Given the description of an element on the screen output the (x, y) to click on. 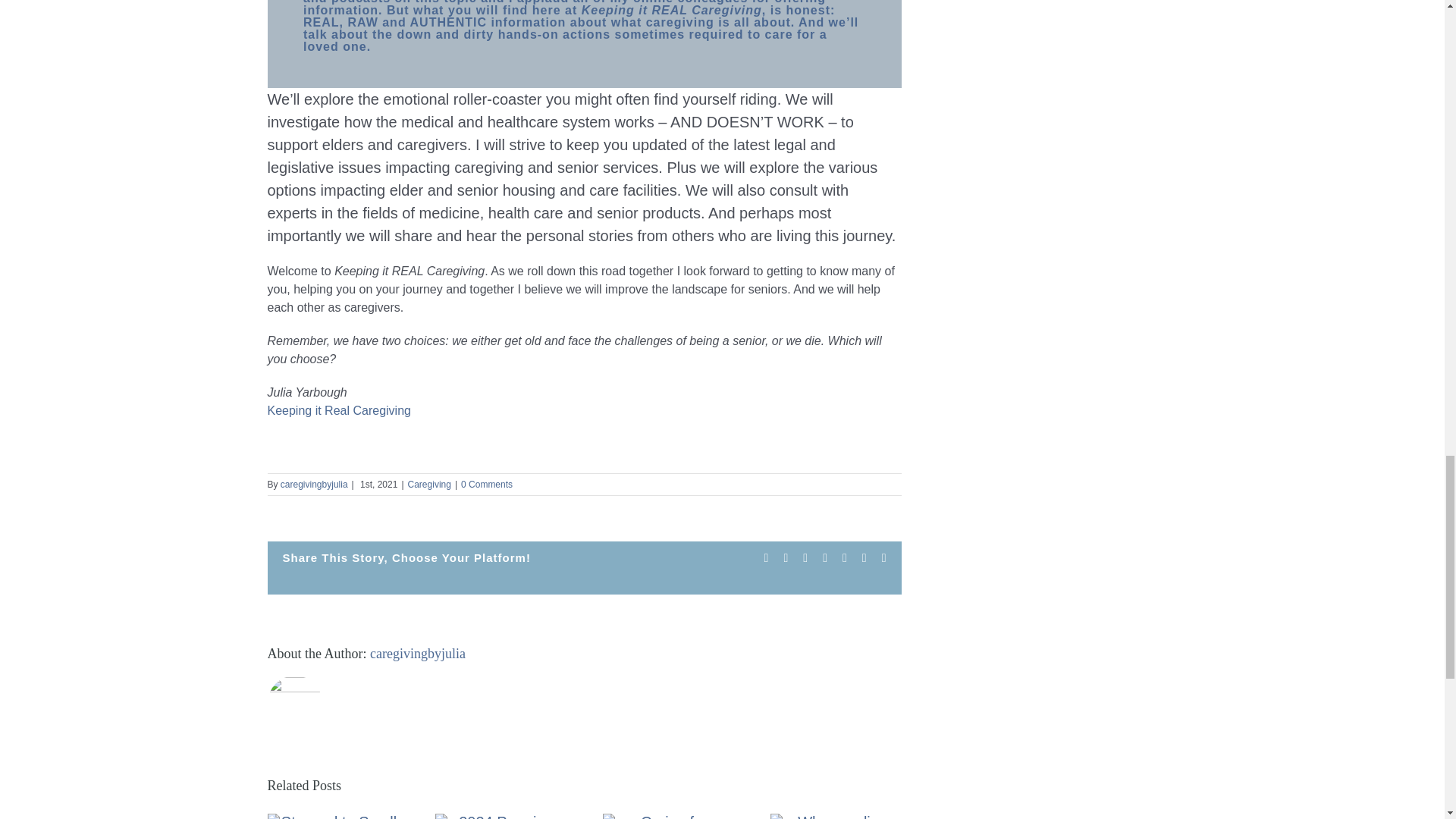
Posts by caregivingbyjulia (314, 484)
Posts by caregivingbyjulia (417, 653)
